Given the description of an element on the screen output the (x, y) to click on. 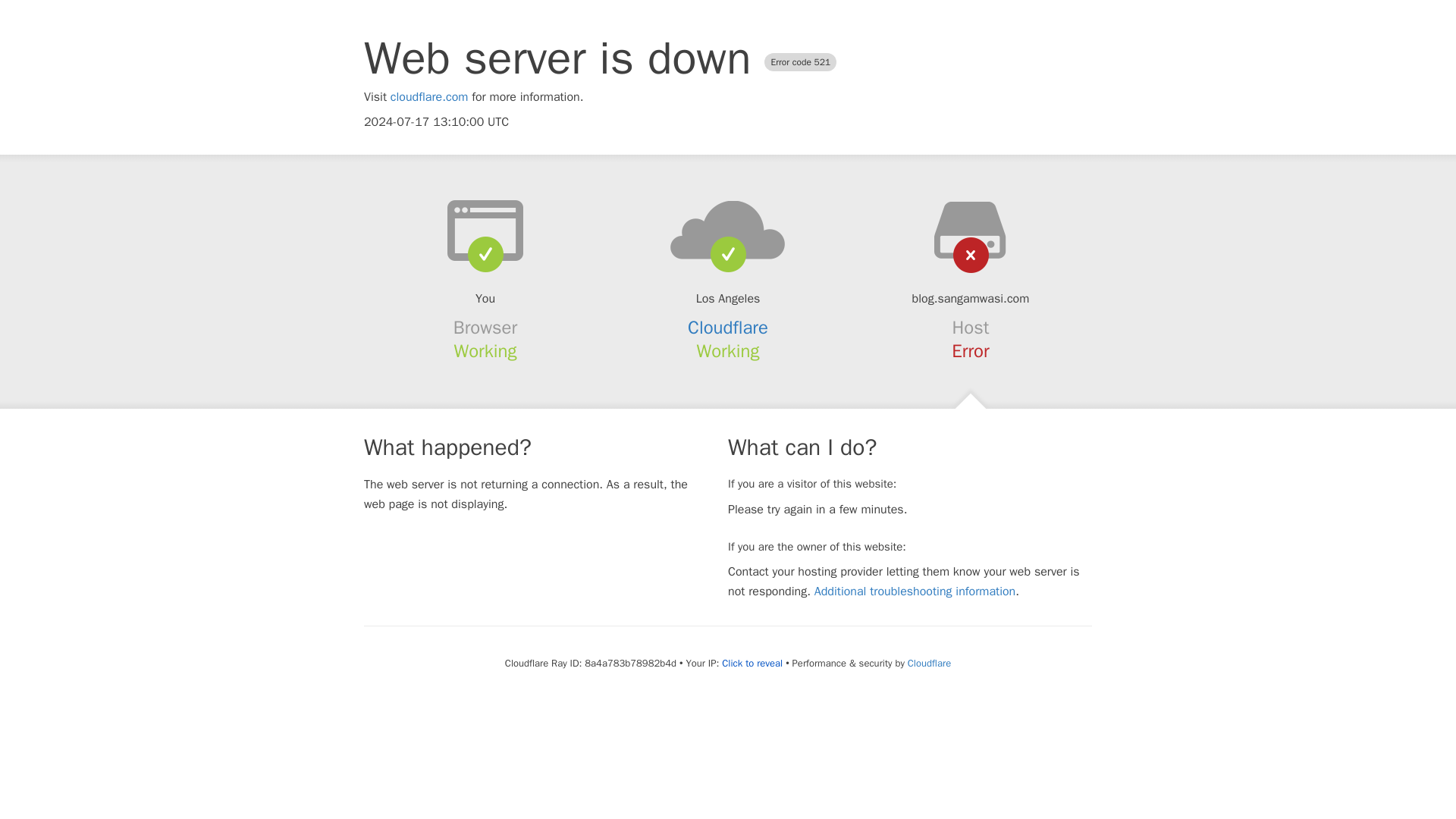
Click to reveal (752, 663)
Additional troubleshooting information (913, 590)
Cloudflare (727, 327)
cloudflare.com (429, 96)
Cloudflare (928, 662)
